Given the description of an element on the screen output the (x, y) to click on. 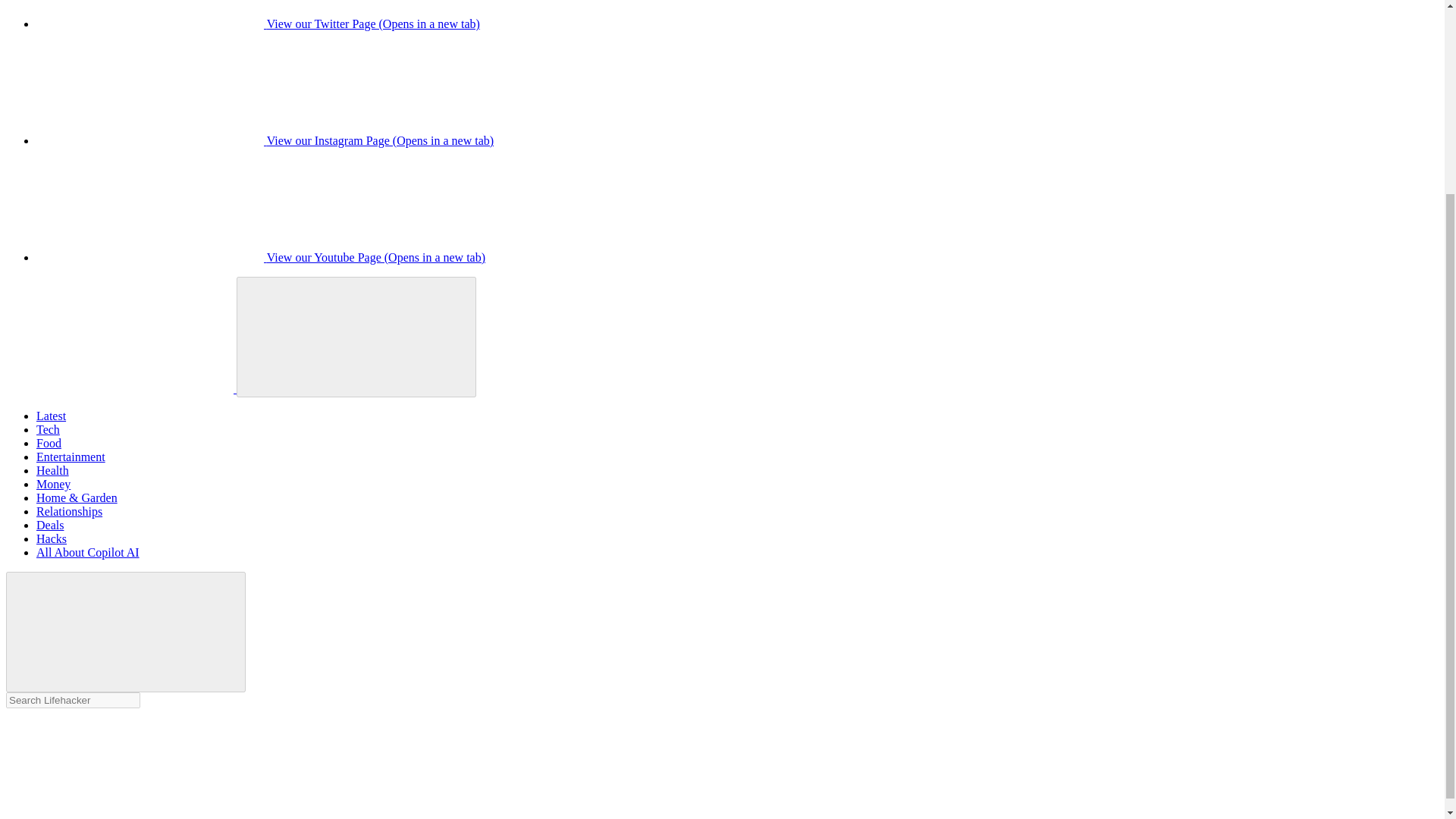
Relationships (68, 511)
Tech (47, 429)
Food (48, 442)
Money (52, 483)
Hacks (51, 538)
Close (125, 631)
All About Copilot AI (87, 552)
Deals (50, 524)
Entertainment (70, 456)
Health (52, 470)
Latest (50, 415)
